Given the description of an element on the screen output the (x, y) to click on. 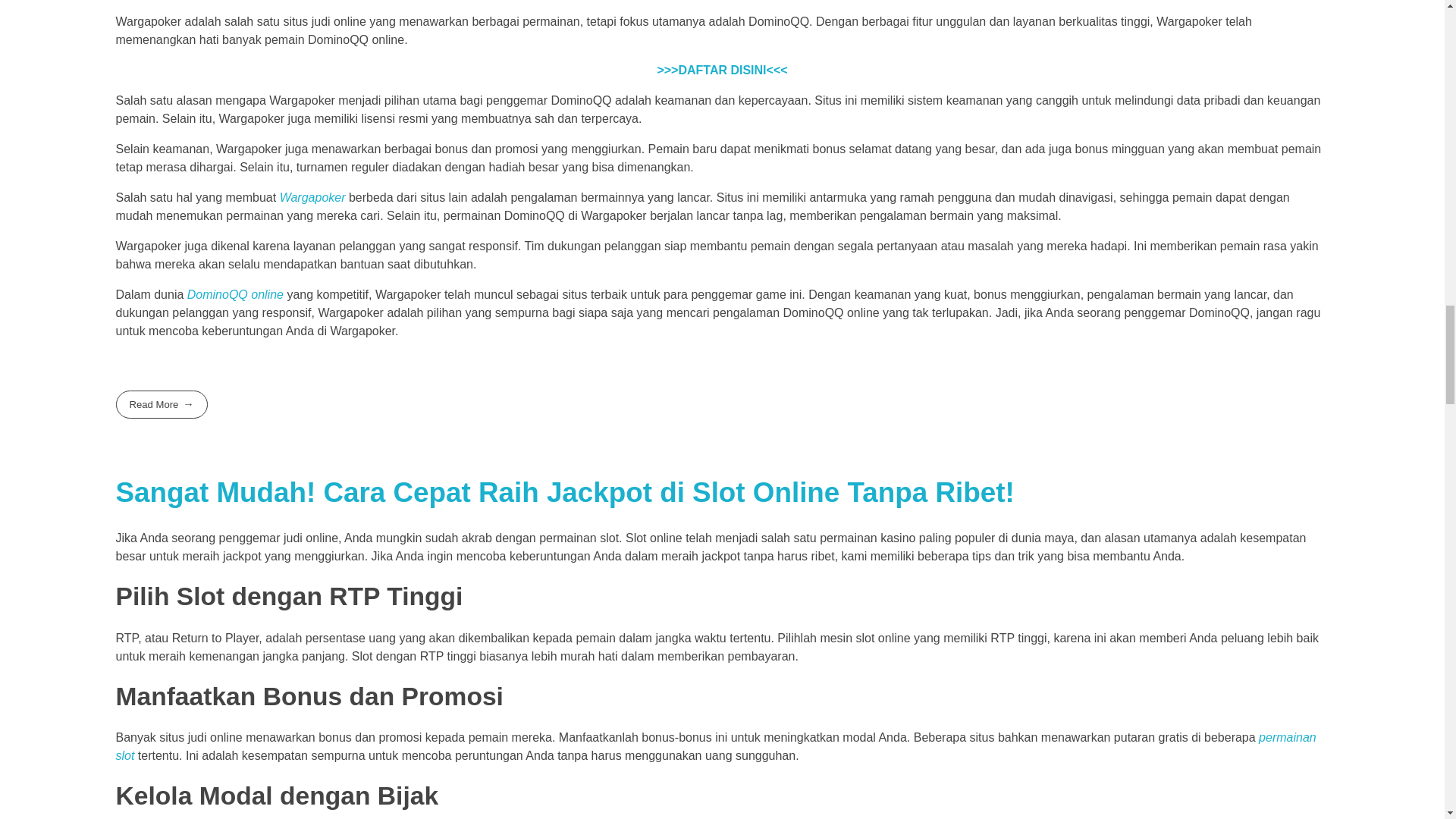
Read More (160, 404)
DominoQQ online (235, 294)
permainan slot (715, 746)
Wargapoker (312, 196)
